Given the description of an element on the screen output the (x, y) to click on. 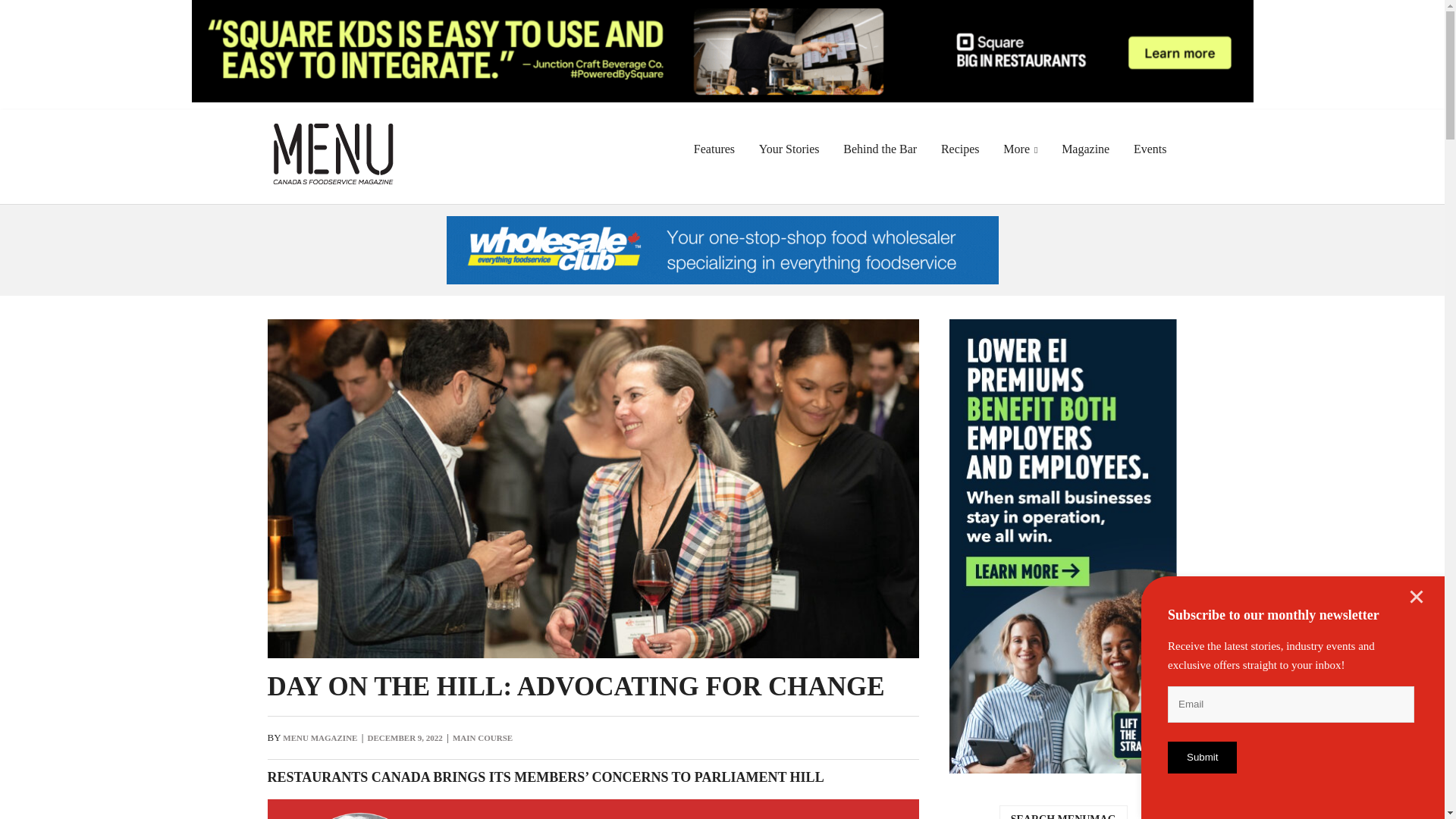
Features (713, 148)
Posts by MENU Magazine (319, 737)
Recipes (960, 148)
Magazine (1085, 148)
MENU (331, 133)
MENU MAGAZINE (319, 737)
Submit (1201, 757)
Behind the Bar (879, 148)
Your Stories (788, 148)
